Given the description of an element on the screen output the (x, y) to click on. 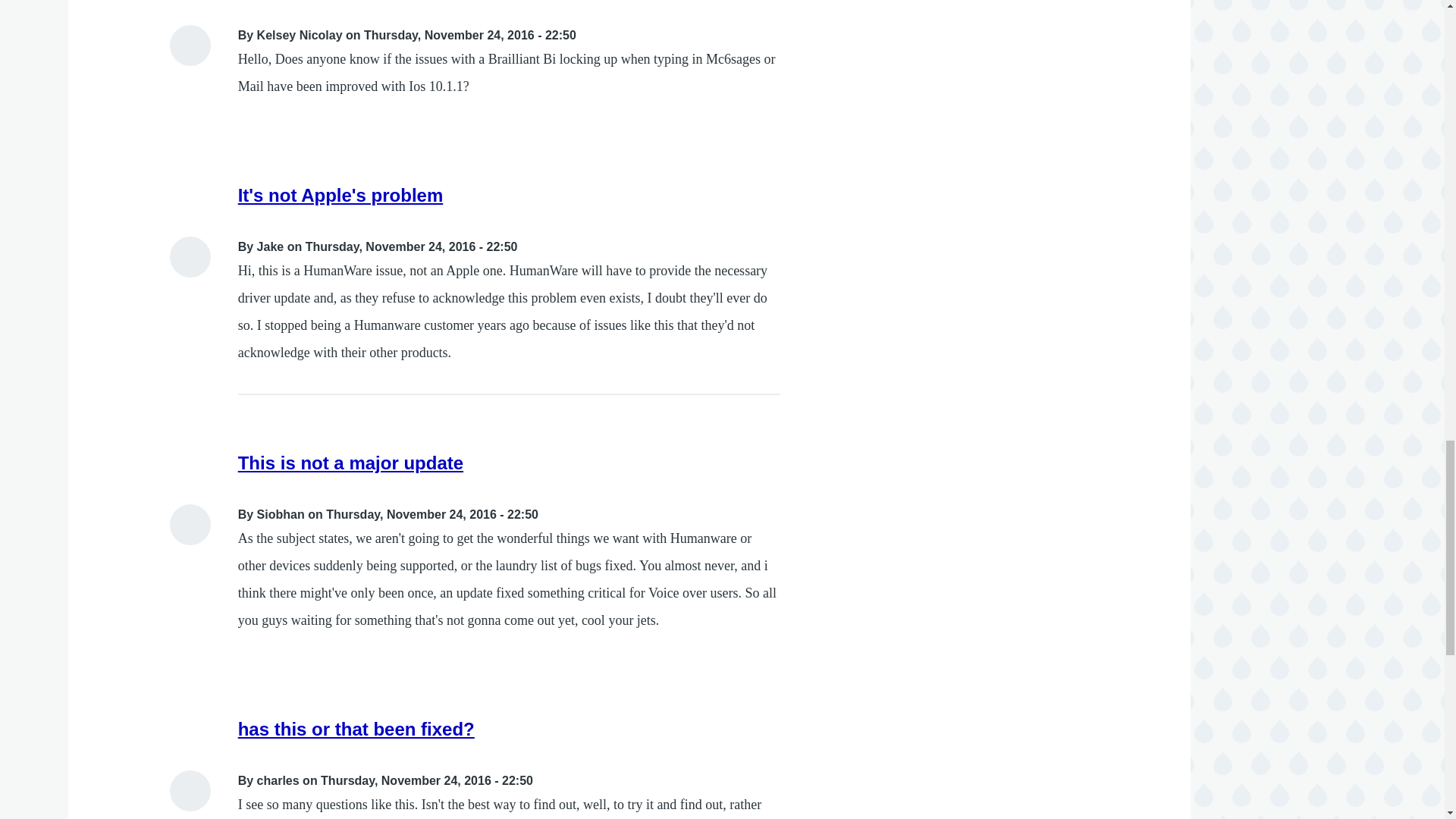
It's not Apple's problem (341, 195)
This is not a major update (350, 462)
has this or that been fixed? (356, 729)
